Given the description of an element on the screen output the (x, y) to click on. 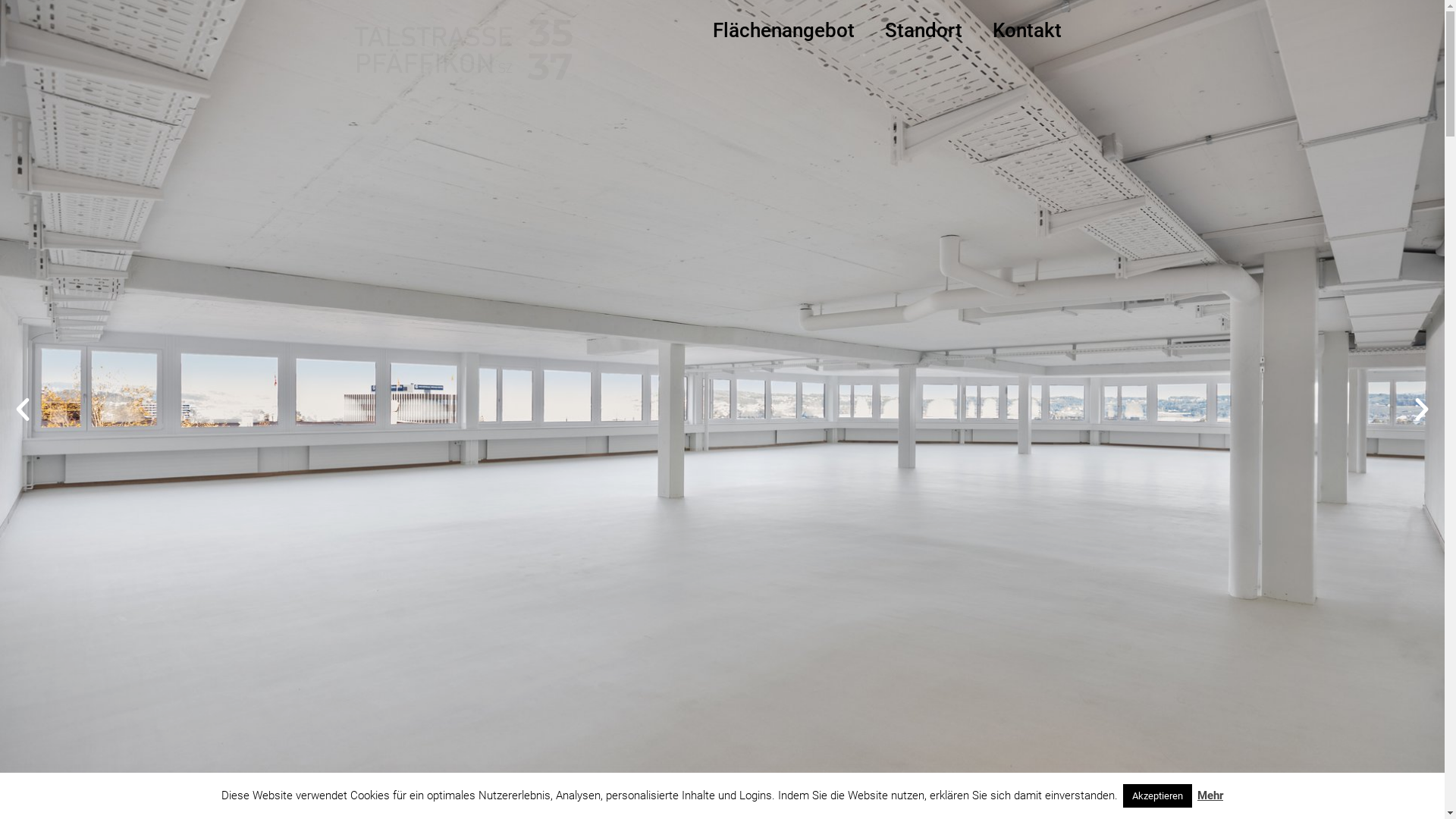
Mehr Element type: text (1210, 795)
Akzeptieren Element type: text (1157, 795)
Kontakt Element type: text (1026, 29)
Standort Element type: text (923, 29)
